Given the description of an element on the screen output the (x, y) to click on. 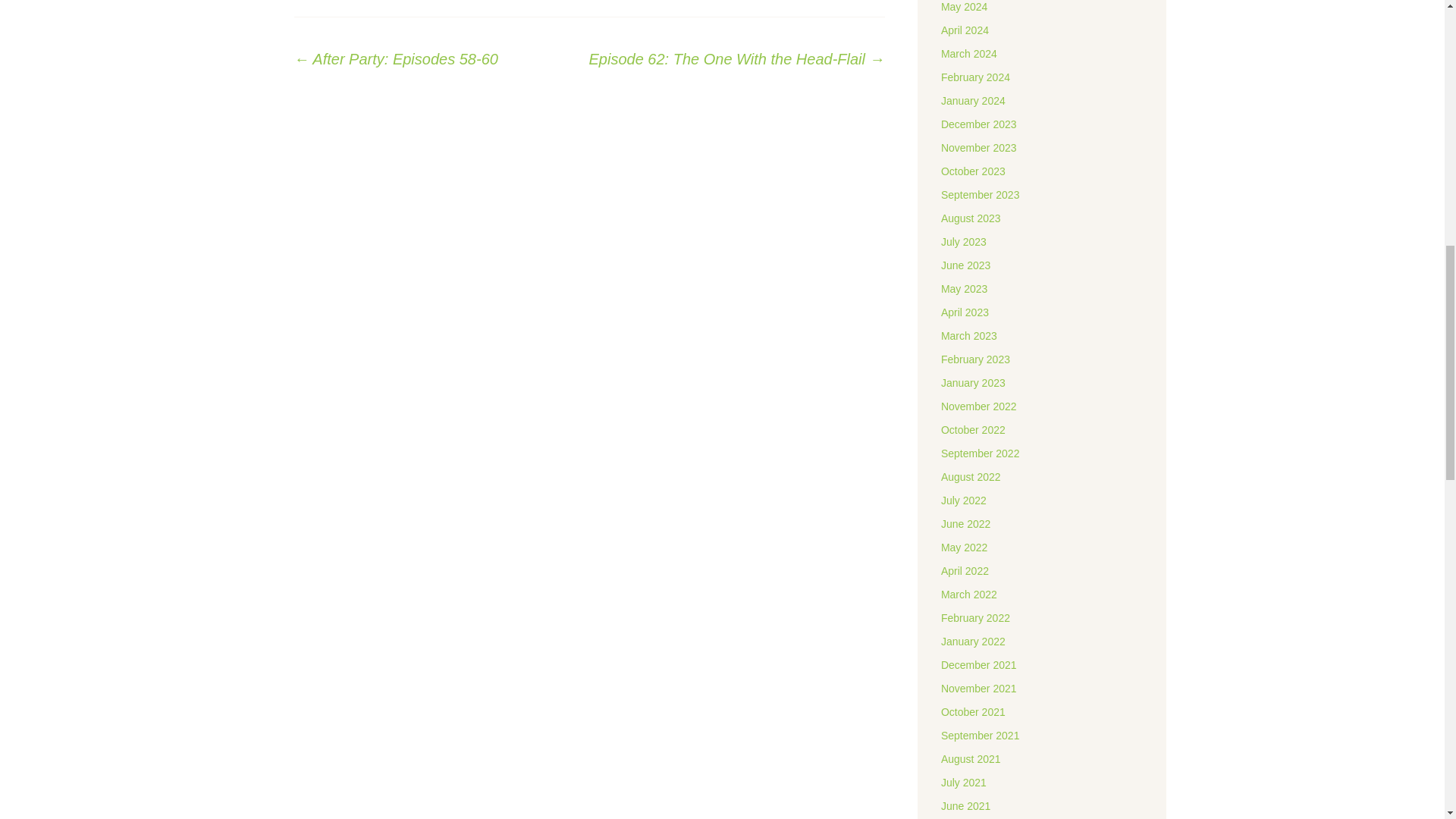
February 2024 (975, 77)
June 2023 (965, 265)
March 2024 (968, 53)
August 2023 (970, 218)
November 2023 (978, 147)
May 2023 (963, 288)
September 2023 (980, 194)
December 2023 (978, 123)
October 2023 (973, 171)
July 2023 (963, 241)
January 2024 (973, 101)
May 2024 (963, 6)
April 2024 (964, 30)
